Given the description of an element on the screen output the (x, y) to click on. 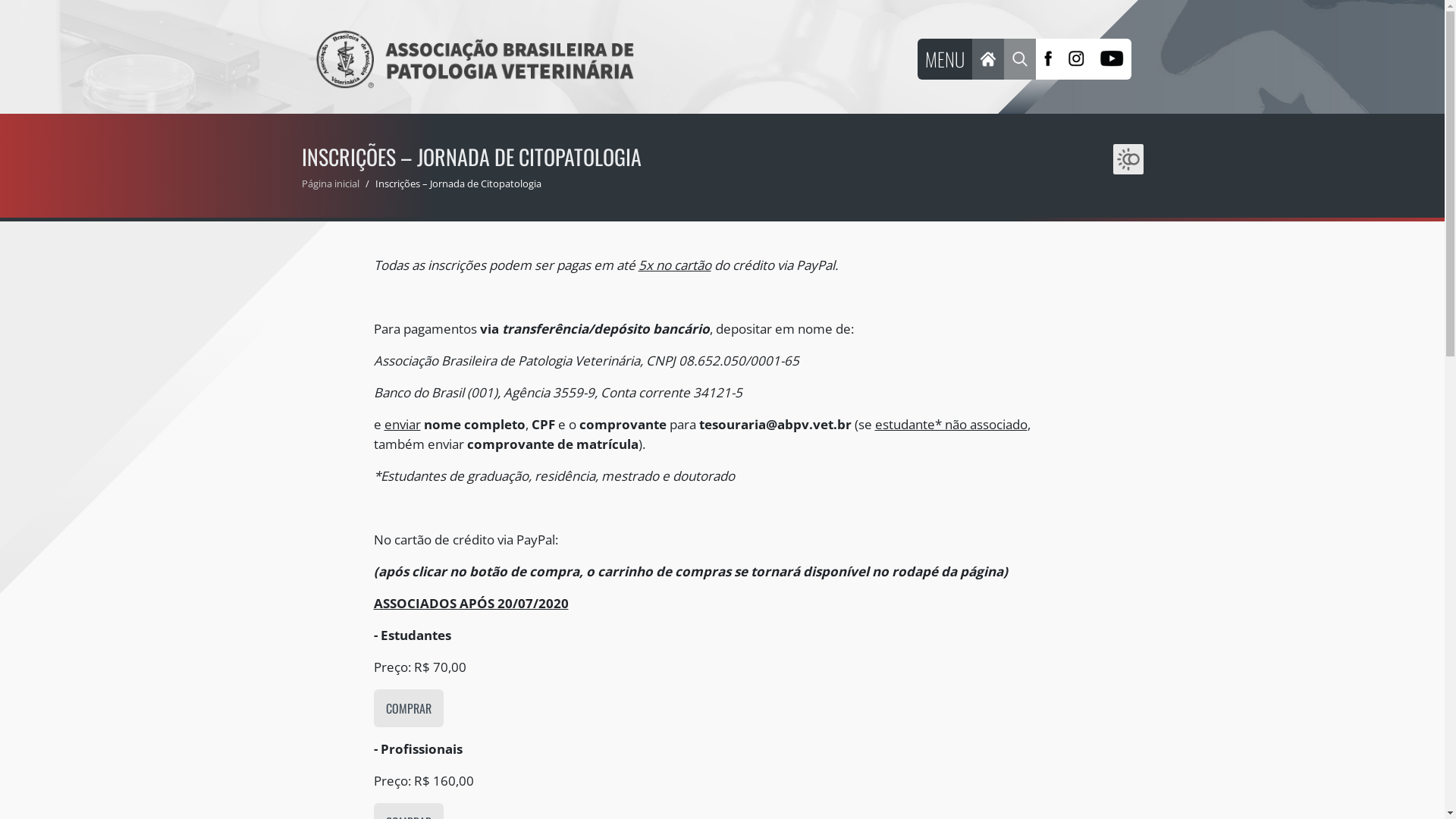
MENU Element type: text (944, 58)
Comprar Element type: text (407, 708)
